Given the description of an element on the screen output the (x, y) to click on. 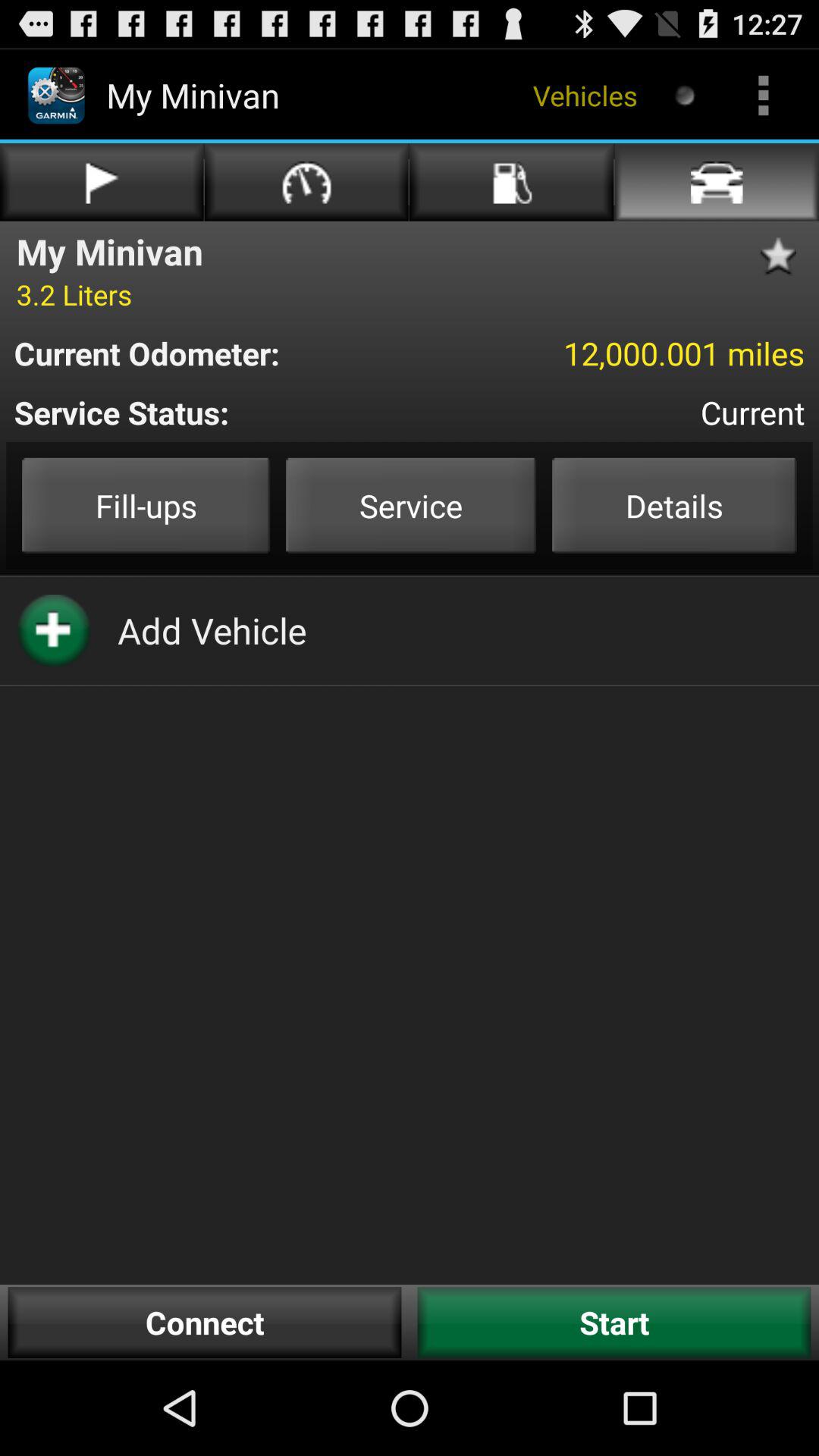
turn off the item below the fill-ups (211, 630)
